Given the description of an element on the screen output the (x, y) to click on. 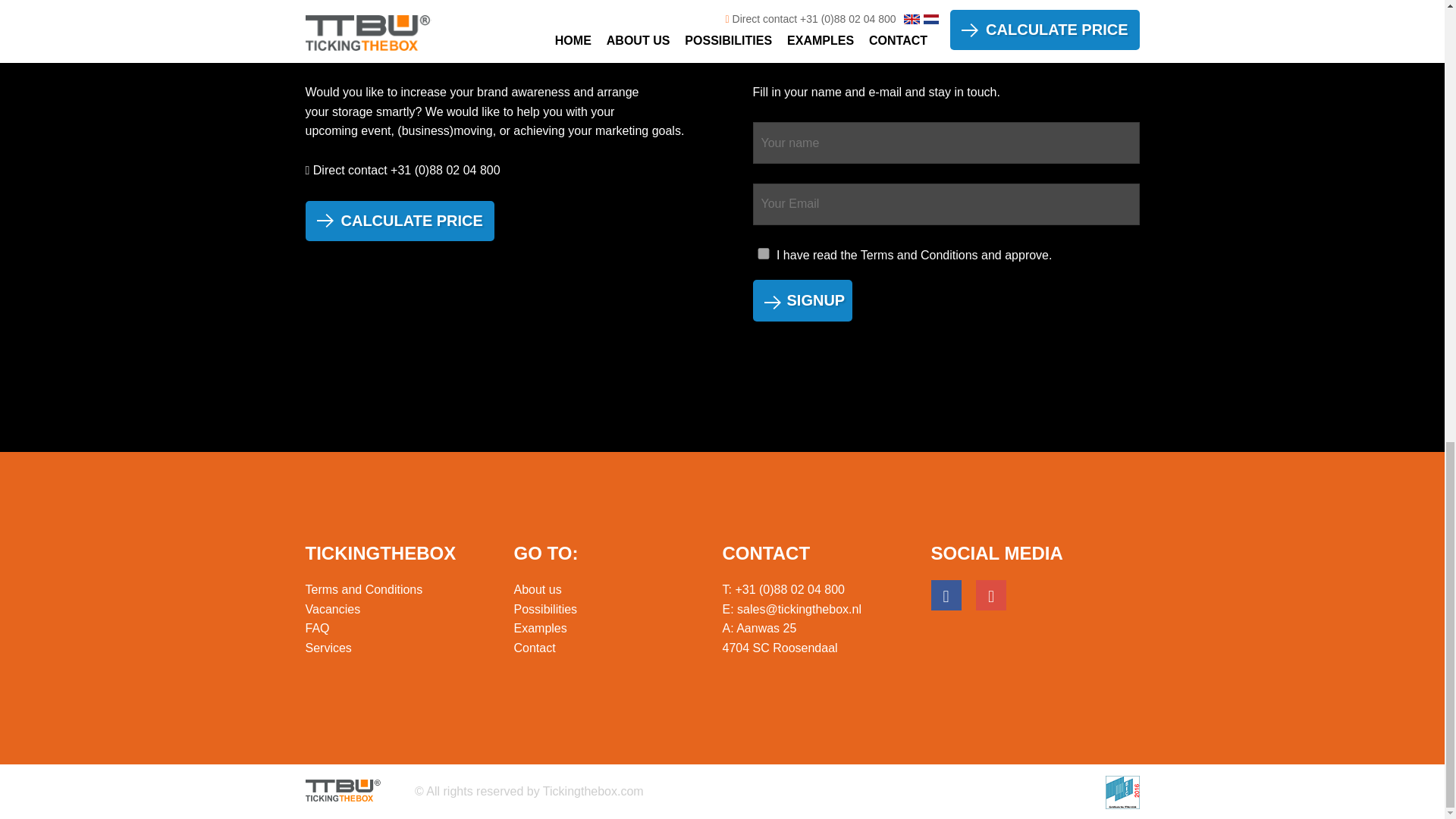
Terms and Conditions (919, 254)
TTBU - TICKING THEBOX (342, 791)
CALCULATE PRICE (398, 220)
Services (327, 647)
Terms and Conditions (363, 589)
Examples (540, 627)
Signup (801, 300)
Facebook (945, 594)
Vacancies (331, 608)
ttbu-certificaat (1122, 792)
Contact (534, 647)
Signup (801, 300)
FAQ (316, 627)
Possibilities (545, 608)
1 (762, 253)
